Given the description of an element on the screen output the (x, y) to click on. 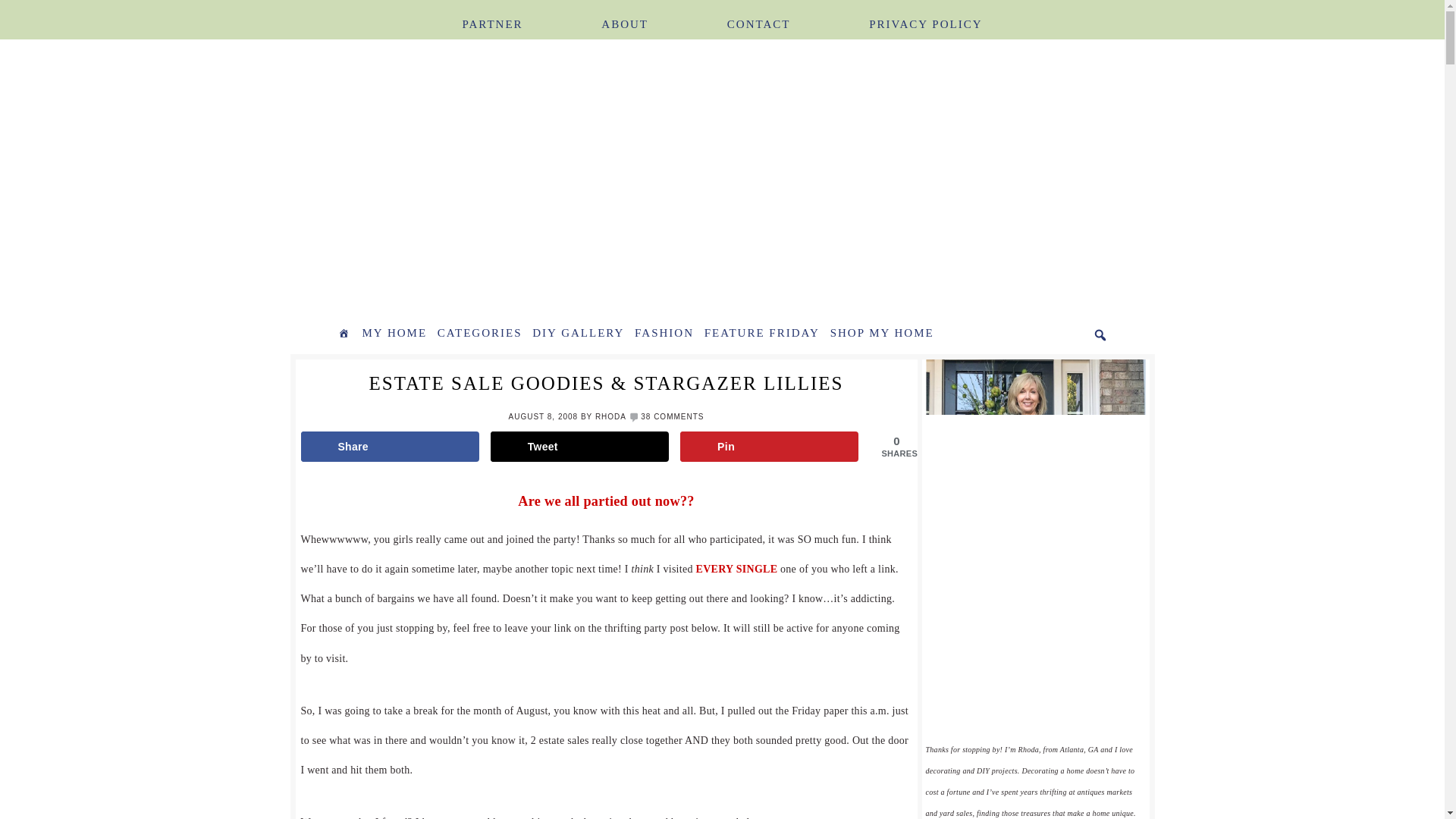
FEATURE FRIDAY (762, 334)
ABOUT (624, 15)
CATEGORIES (479, 334)
Share on Facebook (389, 446)
Pin (769, 446)
FASHION (663, 334)
Tweet (579, 446)
SOUTHERN HOSPITALITY (494, 179)
DIY GALLERY (577, 334)
MY HOME (394, 334)
